Given the description of an element on the screen output the (x, y) to click on. 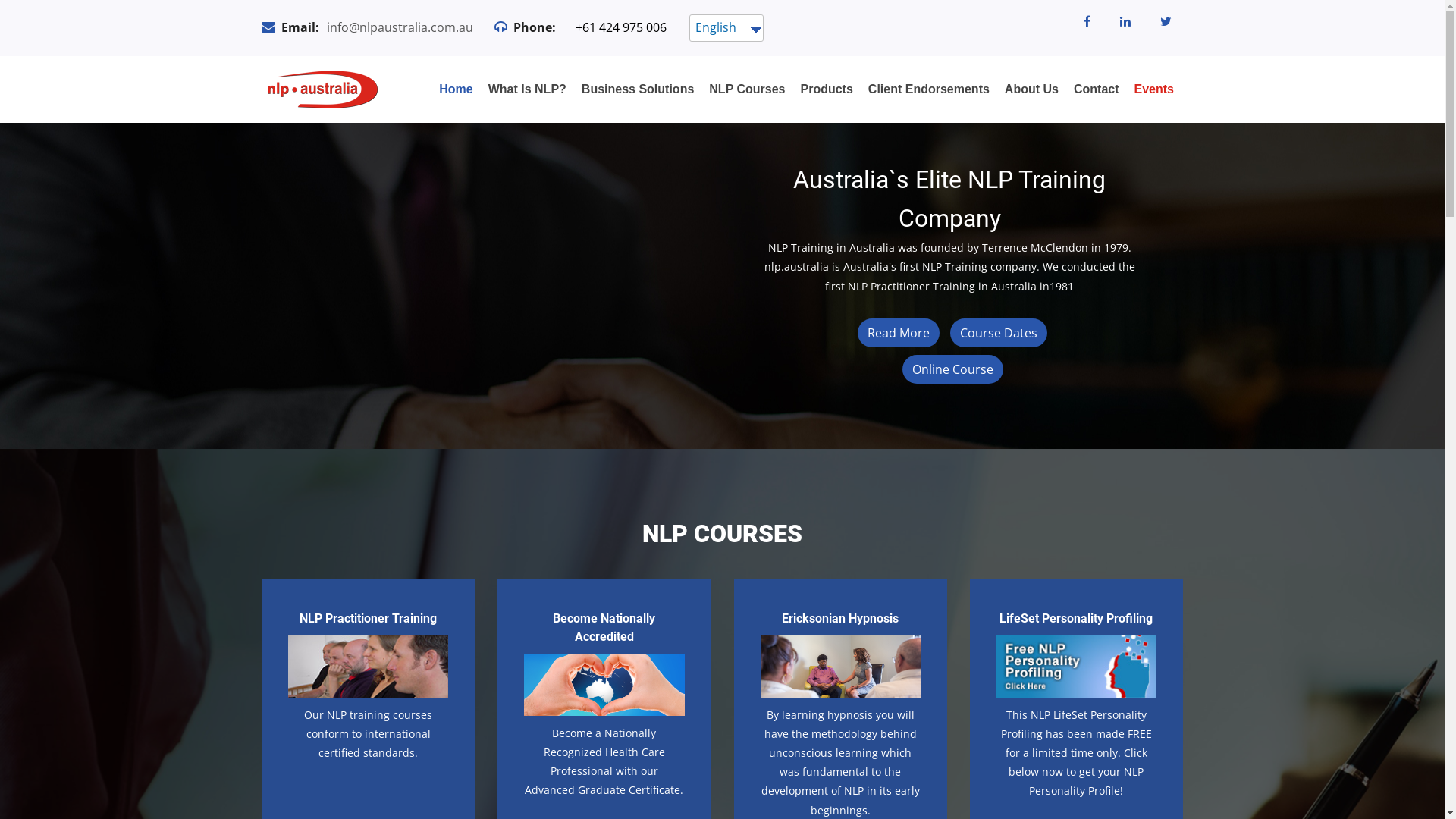
Events Element type: text (1153, 89)
What Is NLP? Element type: text (527, 89)
English Element type: text (716, 27)
NLP Courses Element type: text (746, 89)
Business Solutions Element type: text (637, 89)
Contact Element type: text (1096, 89)
Course Dates Element type: text (998, 332)
Online Course Element type: text (952, 368)
Read More Element type: text (898, 332)
+61 424 975 006 Element type: text (620, 26)
About Us Element type: text (1031, 89)
Home Element type: text (455, 89)
Products Element type: text (826, 89)
Client Endorsements Element type: text (928, 89)
